Given the description of an element on the screen output the (x, y) to click on. 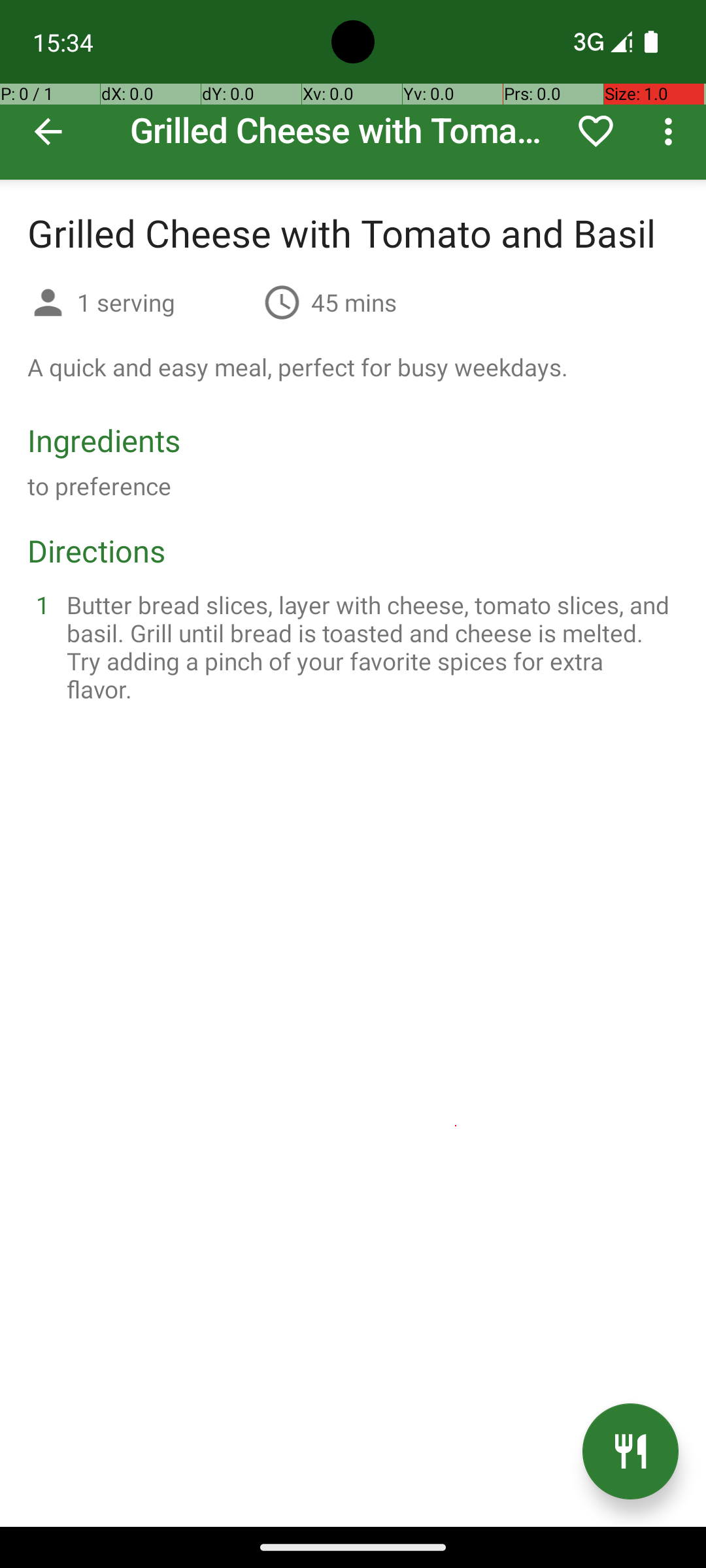
Grilled Cheese with Tomato and Basil Element type: android.widget.FrameLayout (353, 89)
45 mins Element type: android.widget.TextView (353, 301)
to preference Element type: android.widget.TextView (99, 485)
Butter bread slices, layer with cheese, tomato slices, and basil. Grill until bread is toasted and cheese is melted. Try adding a pinch of your favorite spices for extra flavor. Element type: android.widget.TextView (368, 646)
